Given the description of an element on the screen output the (x, y) to click on. 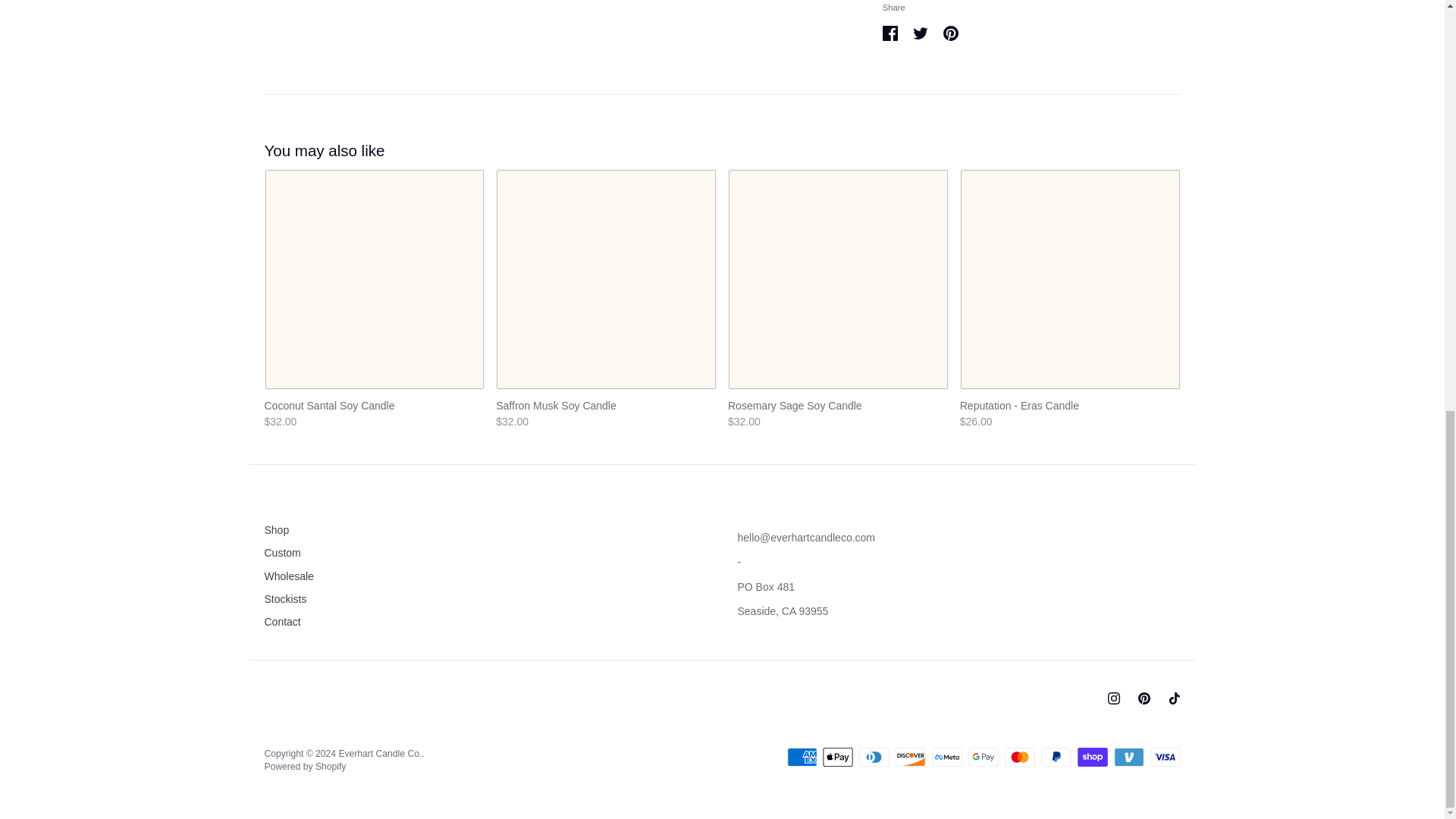
Meta Pay (946, 756)
Discover (910, 756)
Mastercard (1019, 756)
Google Pay (983, 756)
Apple Pay (837, 756)
Diners Club (874, 756)
PayPal (1056, 756)
Shop Pay (1092, 756)
American Express (801, 756)
